Given the description of an element on the screen output the (x, y) to click on. 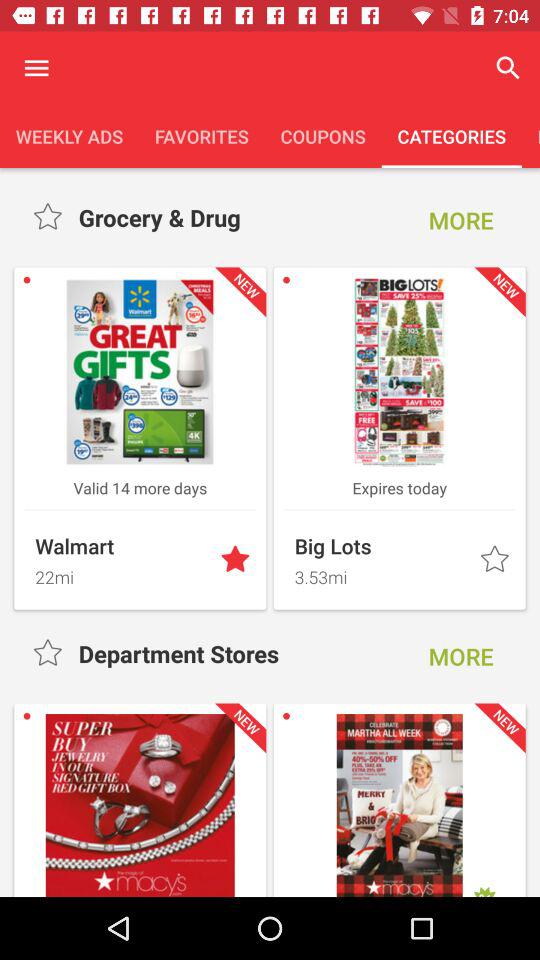
open menu (36, 68)
